Given the description of an element on the screen output the (x, y) to click on. 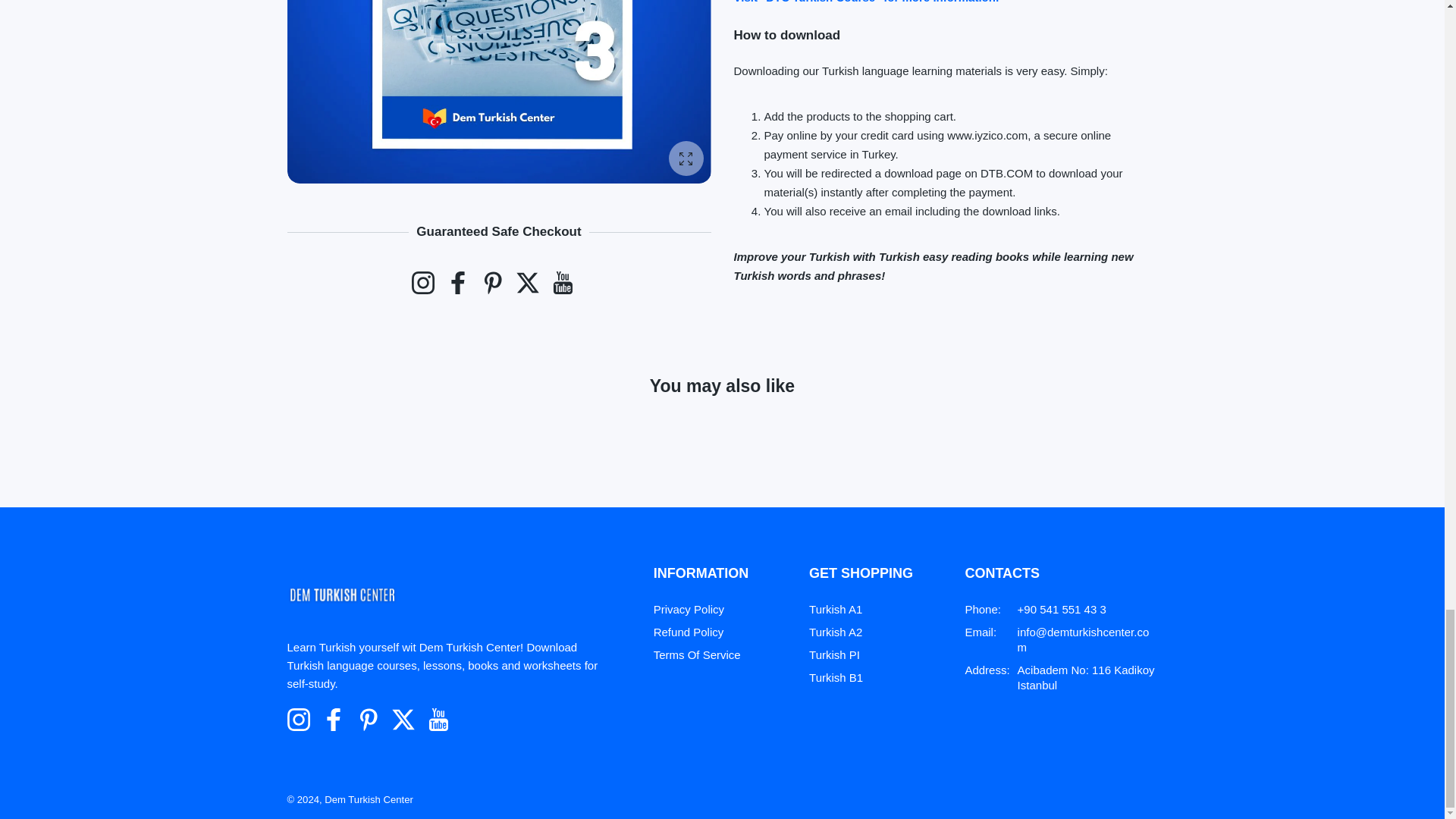
You may also like (722, 403)
Dem Turkish Center  (341, 595)
turkish language courses (865, 2)
